Given the description of an element on the screen output the (x, y) to click on. 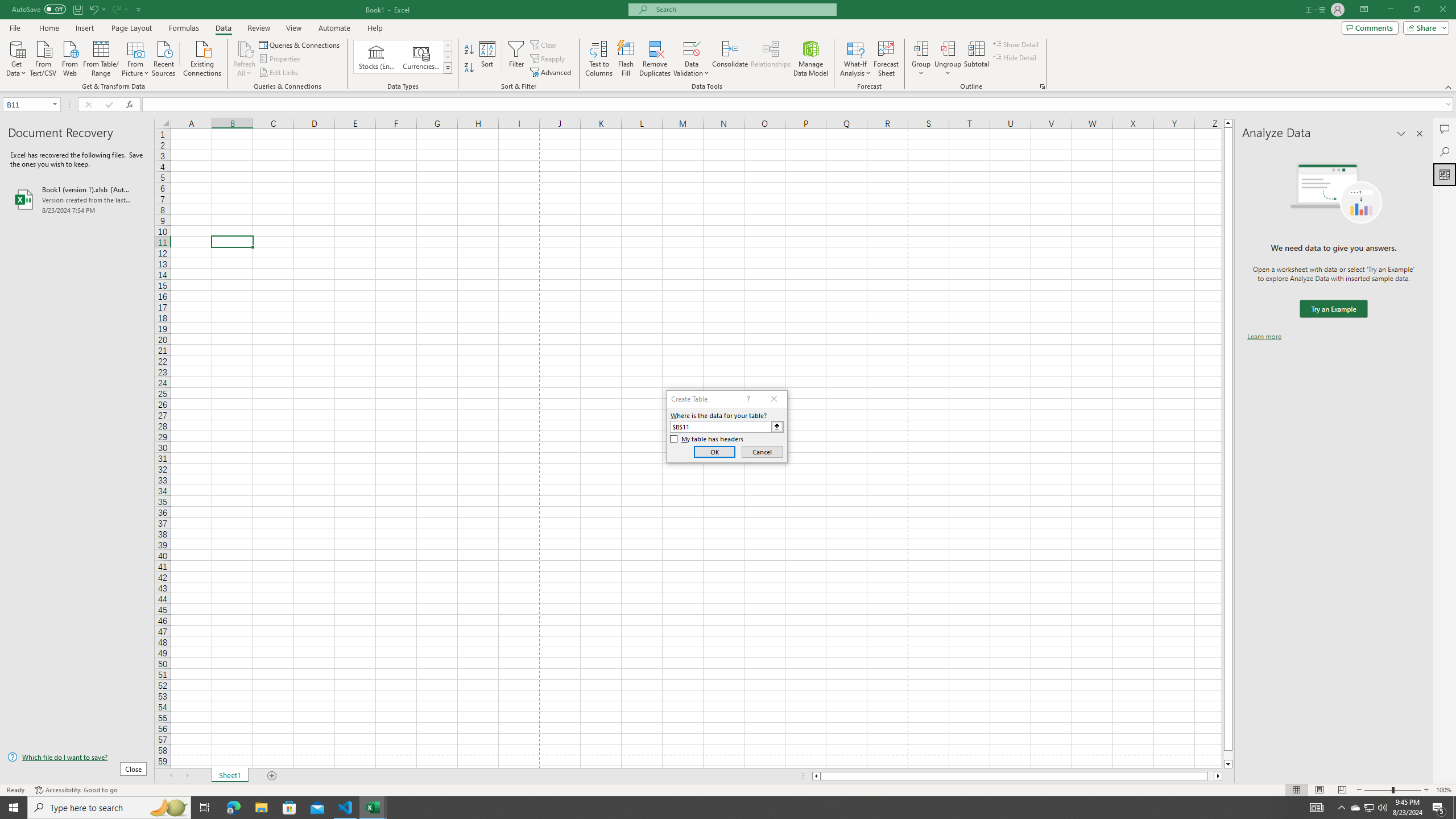
From Web (69, 57)
System (6, 6)
Zoom Out (1377, 790)
Analyze Data (1444, 173)
Existing Connections (202, 57)
Help (374, 28)
Close pane (1419, 133)
Accessibility Checker Accessibility: Good to go (76, 790)
Minimize (1390, 9)
Line up (1228, 122)
Clear (544, 44)
Sort A to Z (469, 49)
Scroll Left (171, 775)
Relationships (770, 58)
Column left (815, 775)
